Given the description of an element on the screen output the (x, y) to click on. 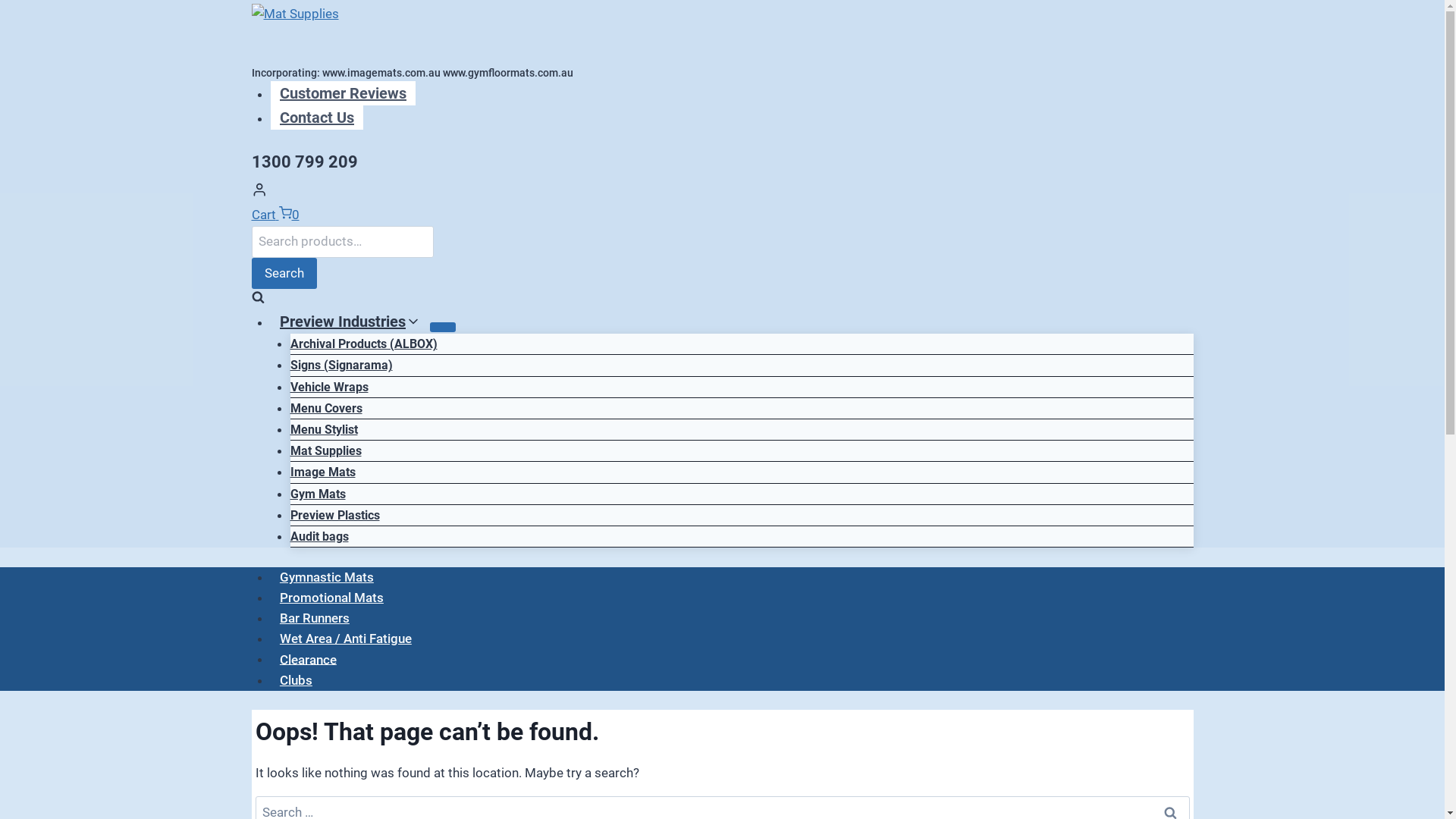
Menu Stylist Element type: text (323, 429)
Cart
0 Element type: text (275, 214)
Promotional Mats Element type: text (331, 597)
Preview Industries Element type: text (349, 321)
Bar Runners Element type: text (314, 617)
Clubs Element type: text (295, 680)
Preview Plastics Element type: text (334, 514)
Gym Mats Element type: text (317, 493)
Gymnastic Mats Element type: text (326, 576)
Clearance Element type: text (307, 659)
Archival Products (ALBOX) Element type: text (362, 343)
Mat Supplies Element type: text (324, 450)
Contact Us Element type: text (316, 117)
Menu Covers Element type: text (325, 408)
Signs (Signarama) Element type: text (340, 364)
Search Element type: text (283, 272)
Audit bags Element type: text (318, 536)
Vehicle Wraps Element type: text (328, 386)
Image Mats Element type: text (321, 471)
Customer Reviews Element type: text (342, 93)
Wet Area / Anti Fatigue Element type: text (345, 638)
